Given the description of an element on the screen output the (x, y) to click on. 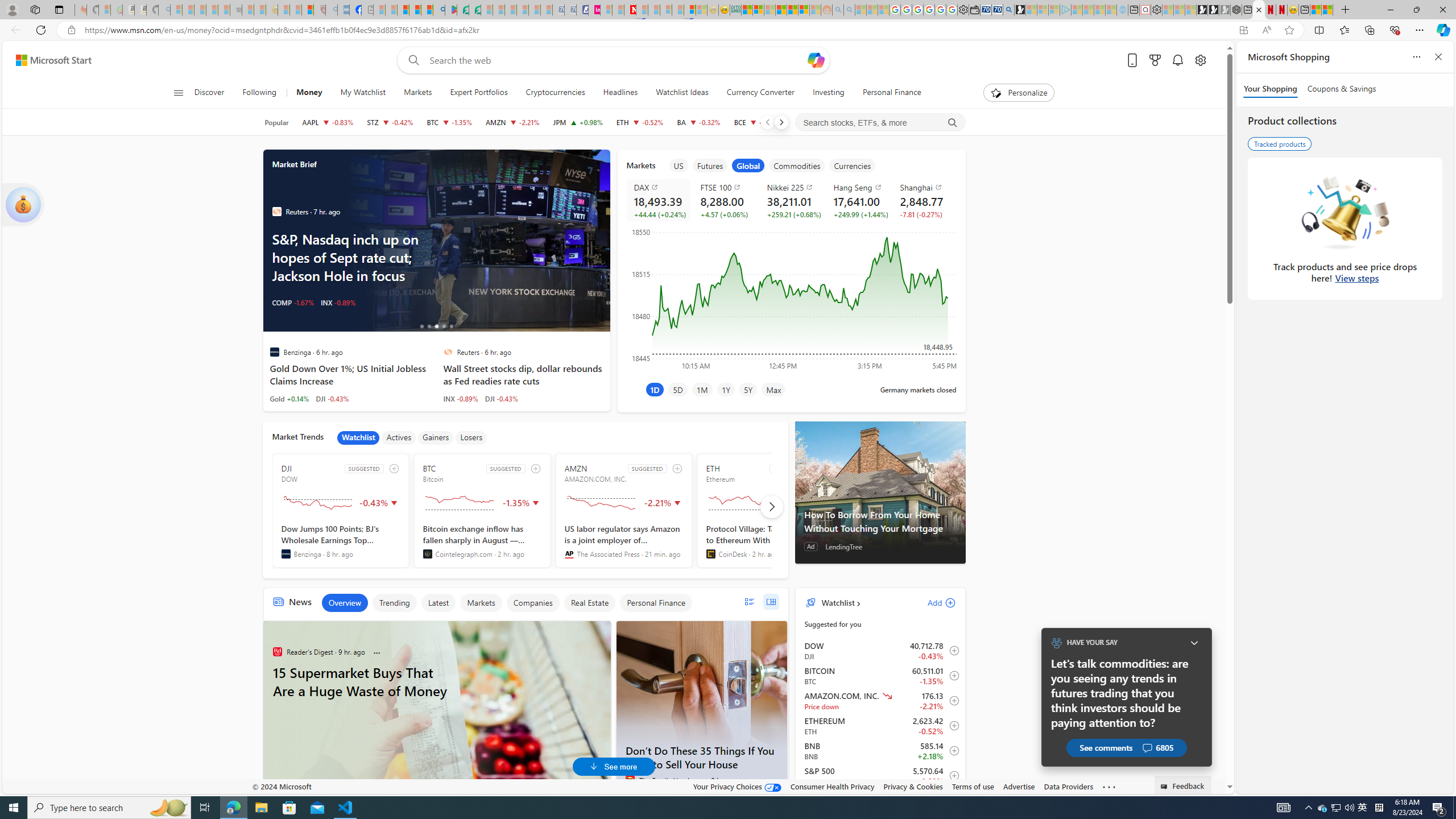
1D (654, 389)
Kinda Frugal - MSN (792, 9)
MSNBC - MSN - Sleeping (379, 9)
Terms of use (973, 786)
Personal Finance (654, 602)
BNB BNB increase 585.14 +12.76 +2.18% item4 (880, 750)
Bluey: Let's Play! - Apps on Google Play (450, 9)
